Given the description of an element on the screen output the (x, y) to click on. 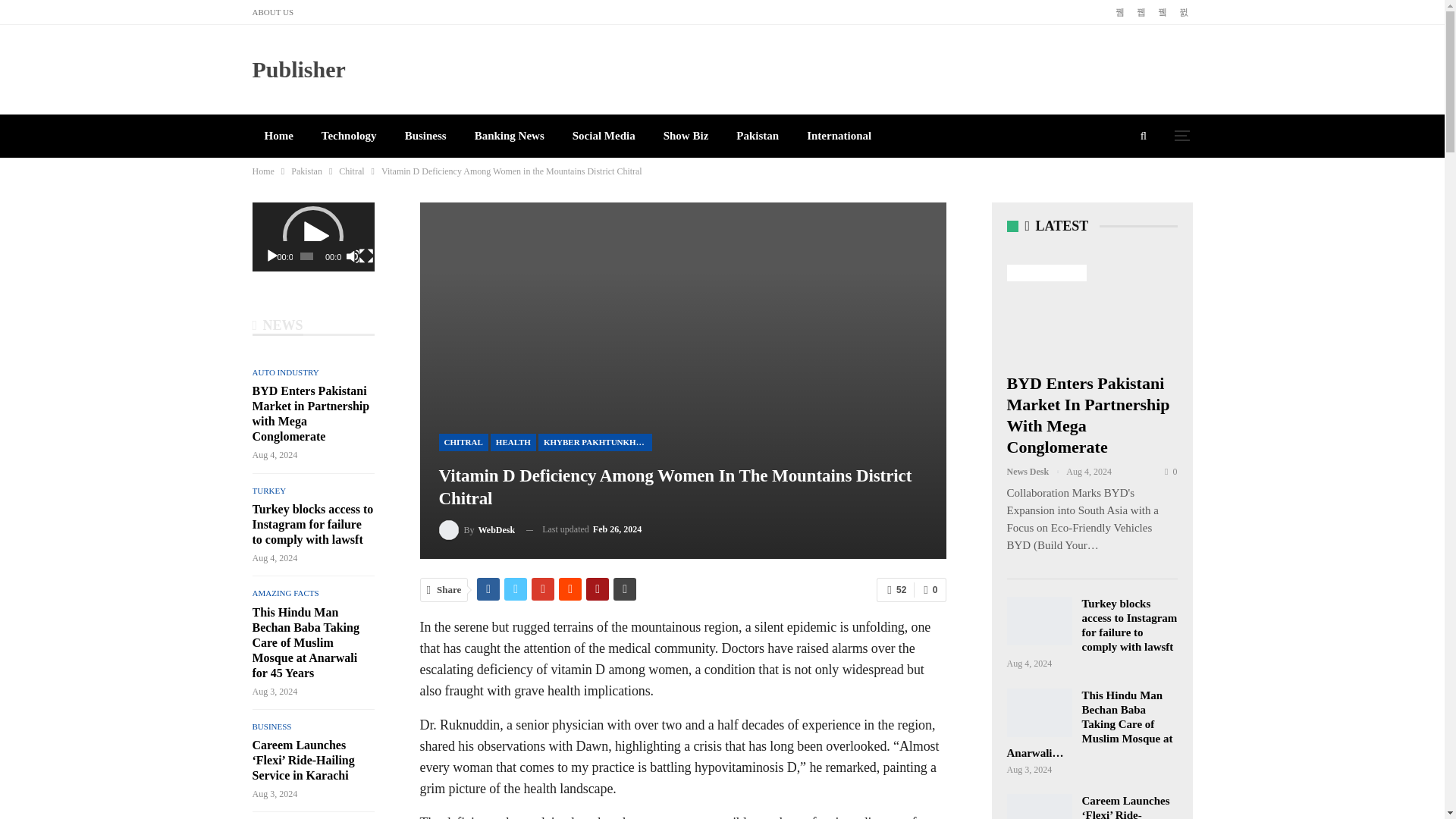
Home (277, 136)
0 (929, 589)
Publisher (298, 68)
Pakistan (756, 136)
Chitral (351, 170)
ABOUT US (272, 11)
CHITRAL (462, 442)
KHYBER PAKHTUNKHWA (595, 442)
International (838, 136)
